Given the description of an element on the screen output the (x, y) to click on. 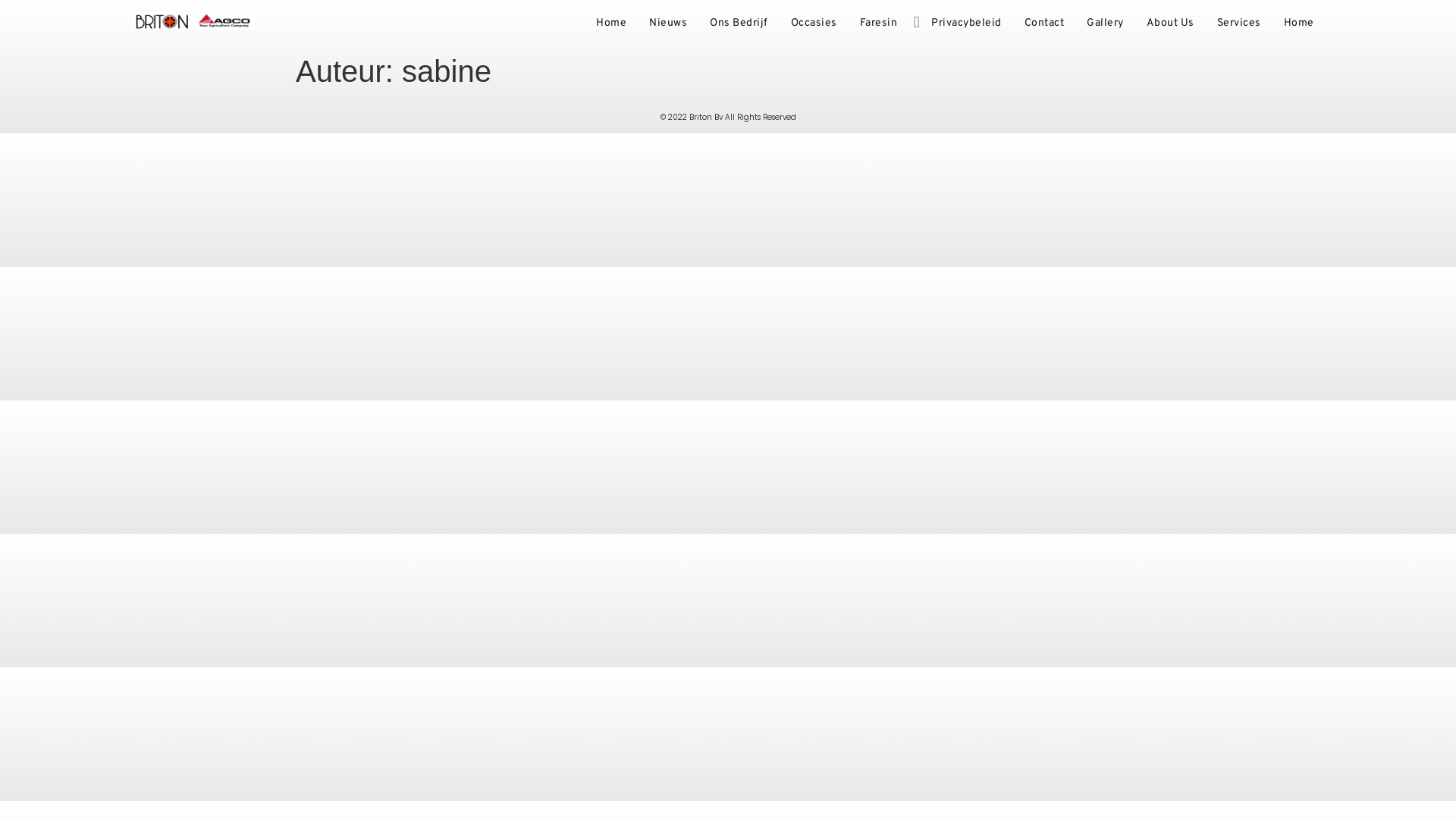
Contact Element type: text (1044, 23)
Home Element type: text (610, 23)
Faresin Element type: text (877, 23)
Ons Bedrijf Element type: text (738, 23)
Nieuws Element type: text (667, 23)
About Us Element type: text (1169, 23)
Privacybeleid Element type: text (966, 23)
Home Element type: text (1298, 23)
Occasies Element type: text (813, 23)
Services Element type: text (1238, 23)
Gallery Element type: text (1105, 23)
